Given the description of an element on the screen output the (x, y) to click on. 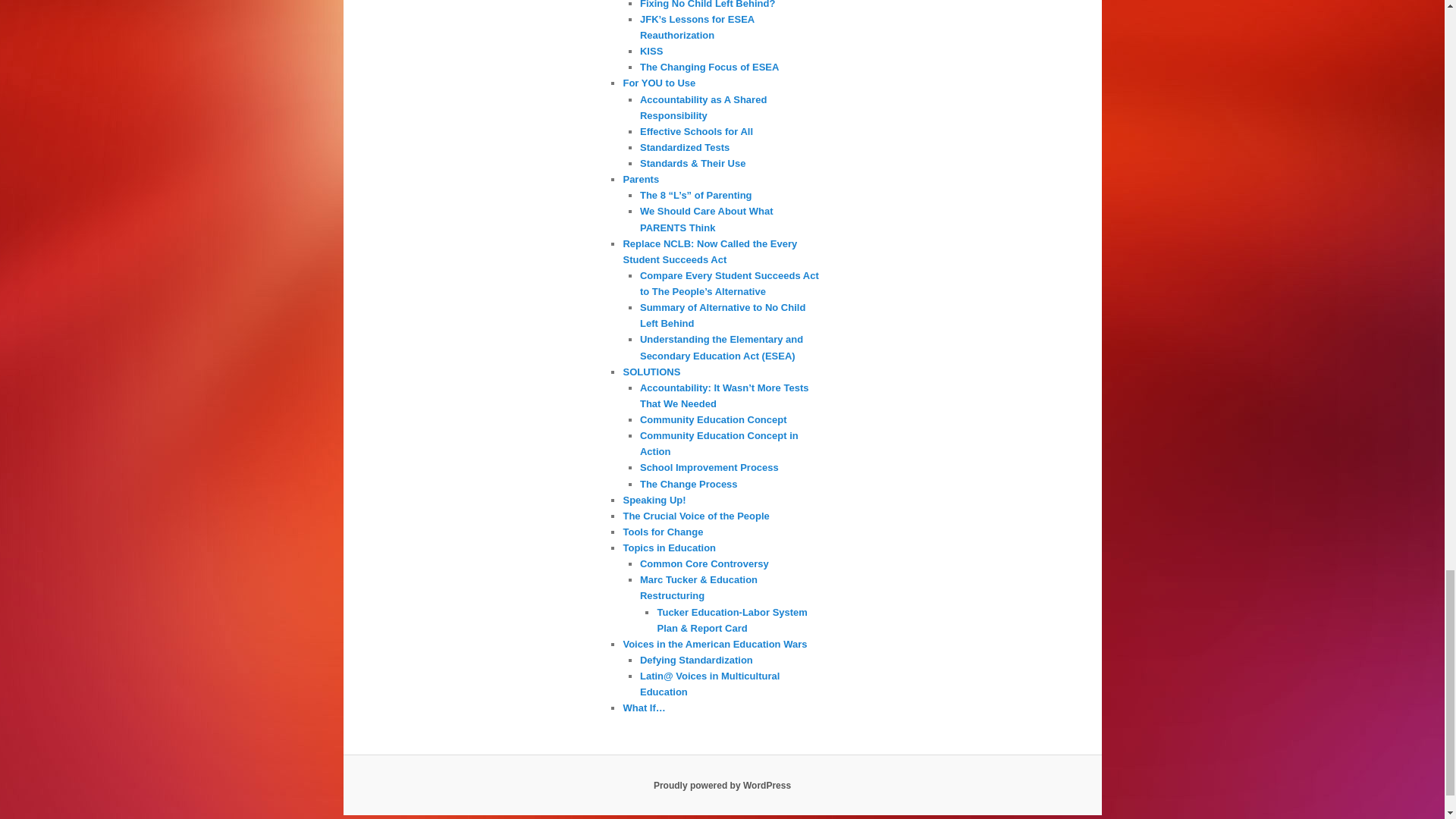
Semantic Personal Publishing Platform (721, 785)
